Given the description of an element on the screen output the (x, y) to click on. 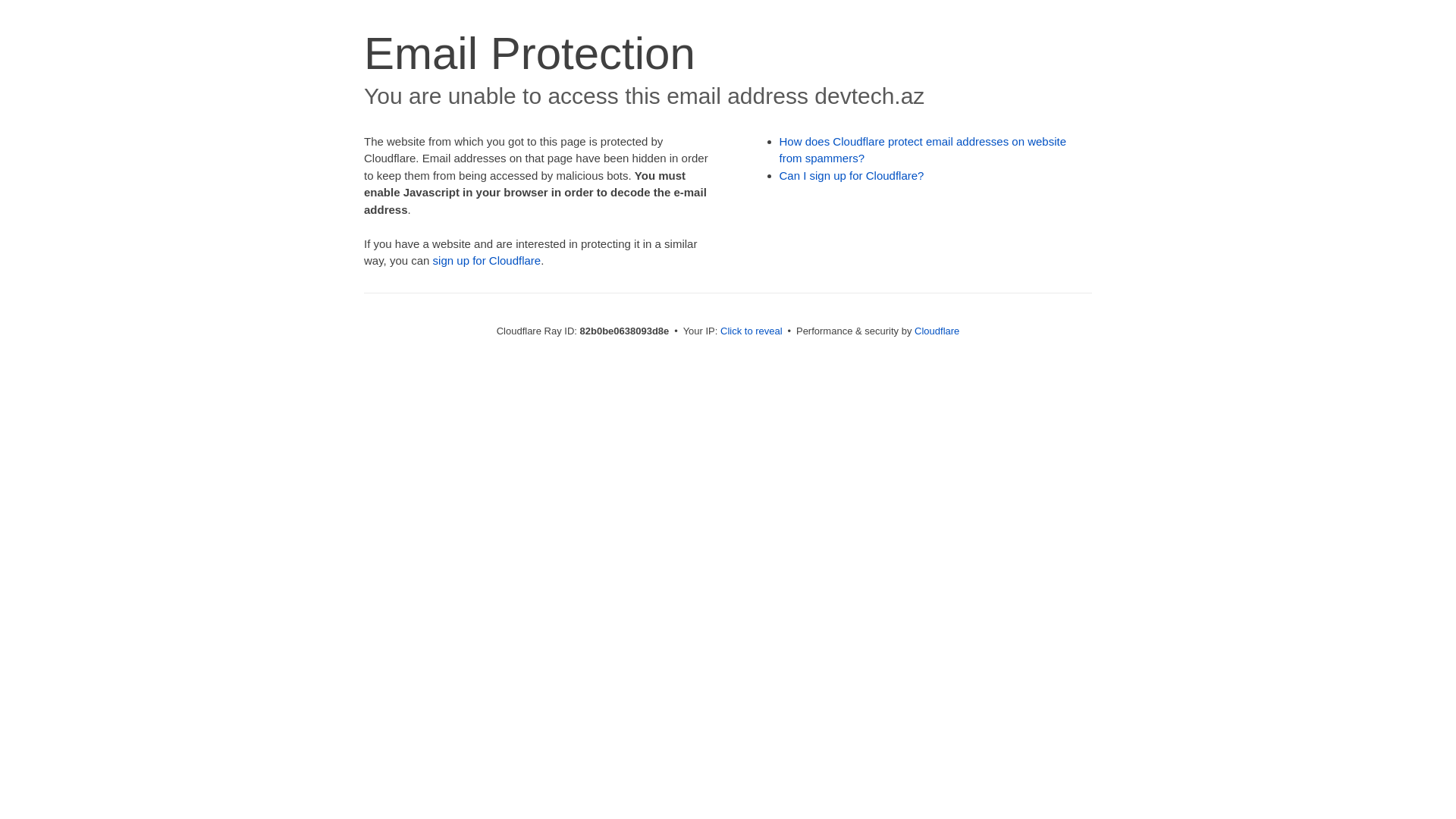
Click to reveal Element type: text (751, 330)
sign up for Cloudflare Element type: text (487, 260)
Can I sign up for Cloudflare? Element type: text (851, 175)
Cloudflare Element type: text (936, 330)
